Given the description of an element on the screen output the (x, y) to click on. 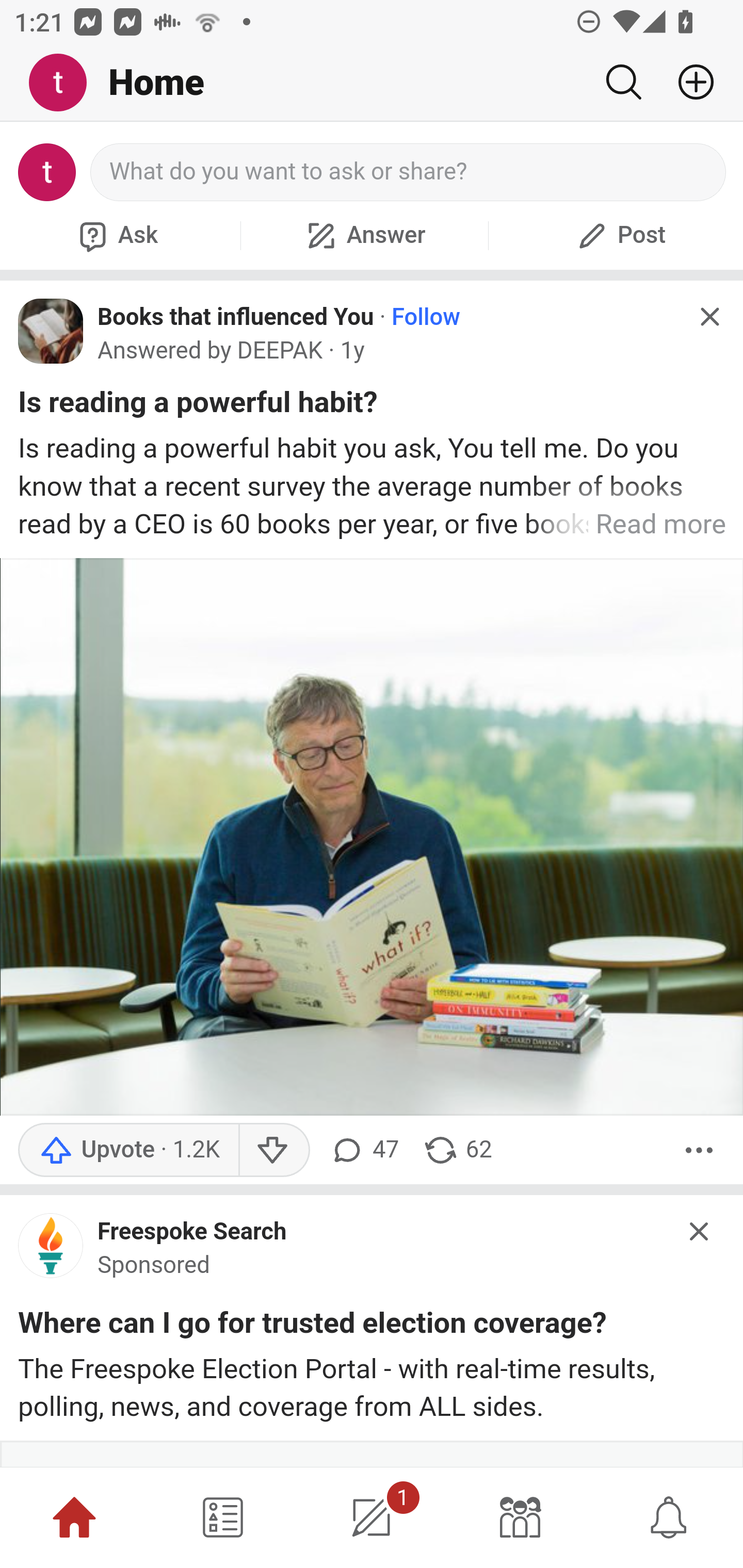
Me (64, 83)
Search (623, 82)
Add (688, 82)
What do you want to ask or share? (408, 172)
Ask (116, 234)
Answer (364, 234)
Post (618, 234)
Hide (709, 316)
Icon for Books that influenced You (50, 330)
Books that influenced You (236, 316)
Follow (426, 316)
Upvote (127, 1149)
Downvote (273, 1149)
47 comments (363, 1149)
62 shares (457, 1149)
More (699, 1149)
Hide (699, 1230)
main-qimg-784c0b59c1772b60fd46a882711c92a8 (50, 1250)
Freespoke Search (191, 1231)
Sponsored (154, 1265)
Where can I go for trusted election coverage? (312, 1327)
1 (371, 1517)
